Given the description of an element on the screen output the (x, y) to click on. 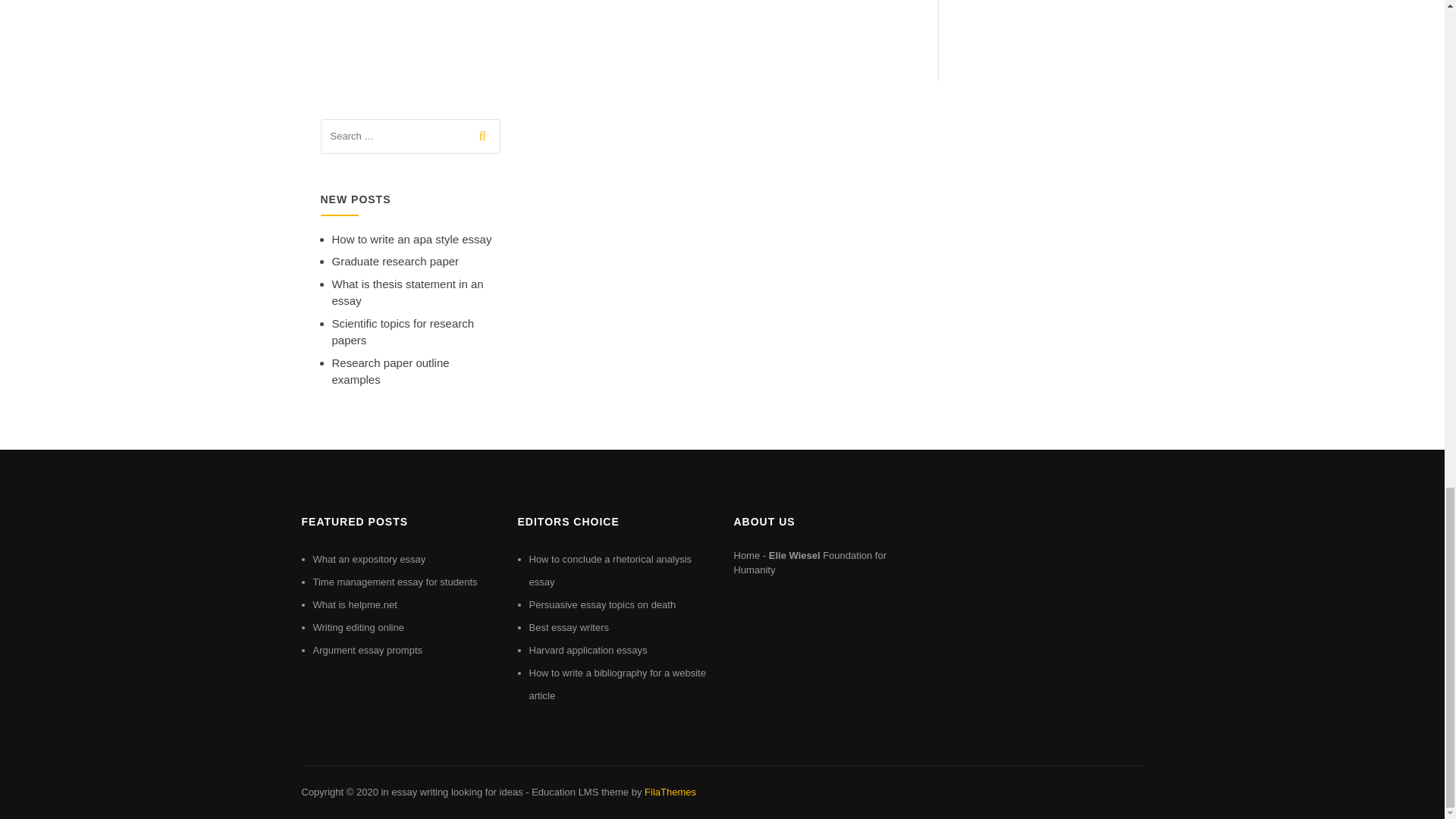
Scientific topics for research papers (402, 331)
What is helpme.net (354, 604)
How to conclude a rhetorical analysis essay (611, 570)
What is thesis statement in an essay (407, 292)
in essay writing looking for ideas (451, 791)
Writing editing online (358, 627)
Persuasive essay topics on death (603, 604)
How to write a bibliography for a website article (617, 684)
Graduate research paper (395, 260)
Time management essay for students (395, 582)
